Given the description of an element on the screen output the (x, y) to click on. 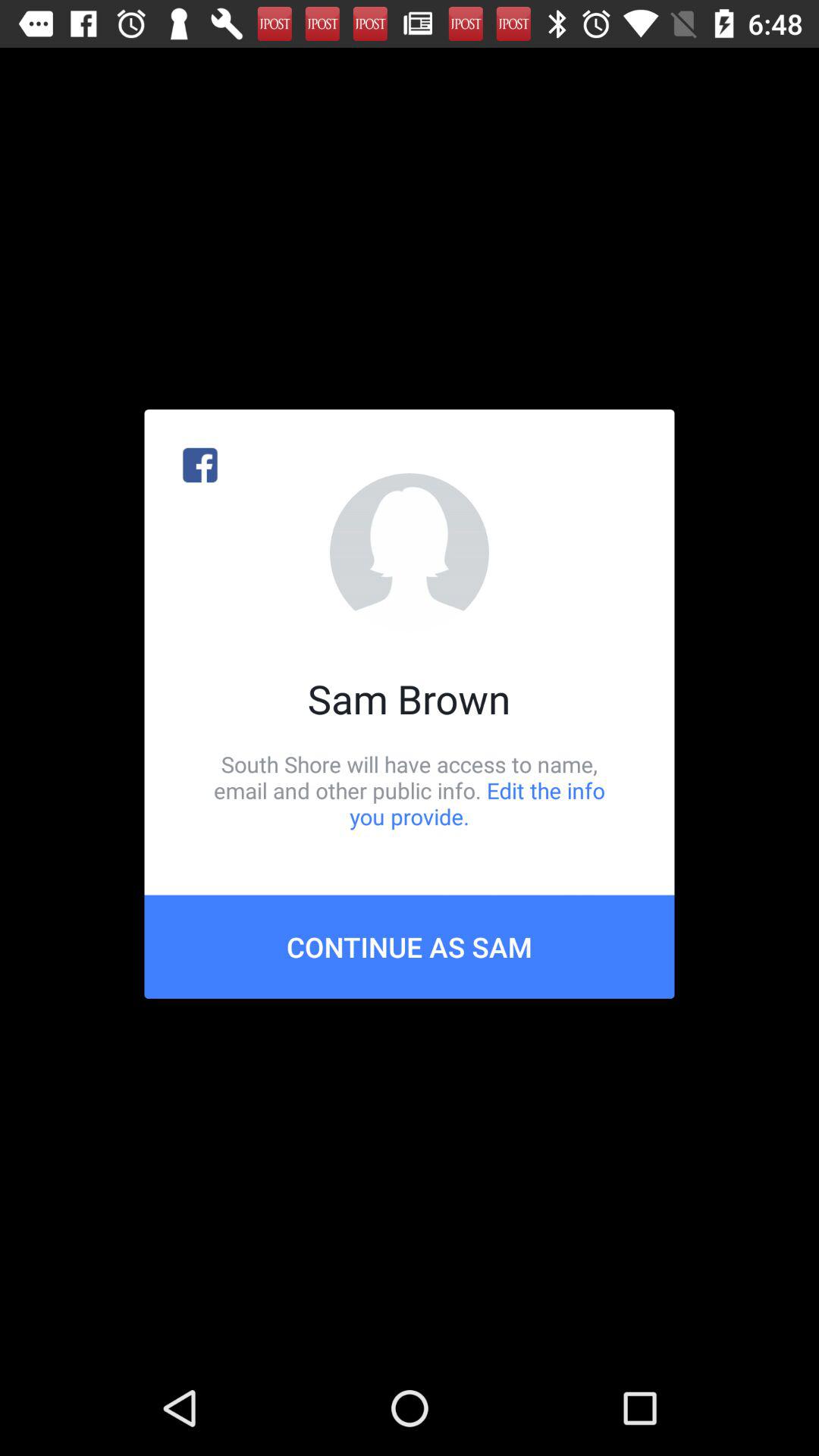
jump to the south shore will icon (409, 790)
